Given the description of an element on the screen output the (x, y) to click on. 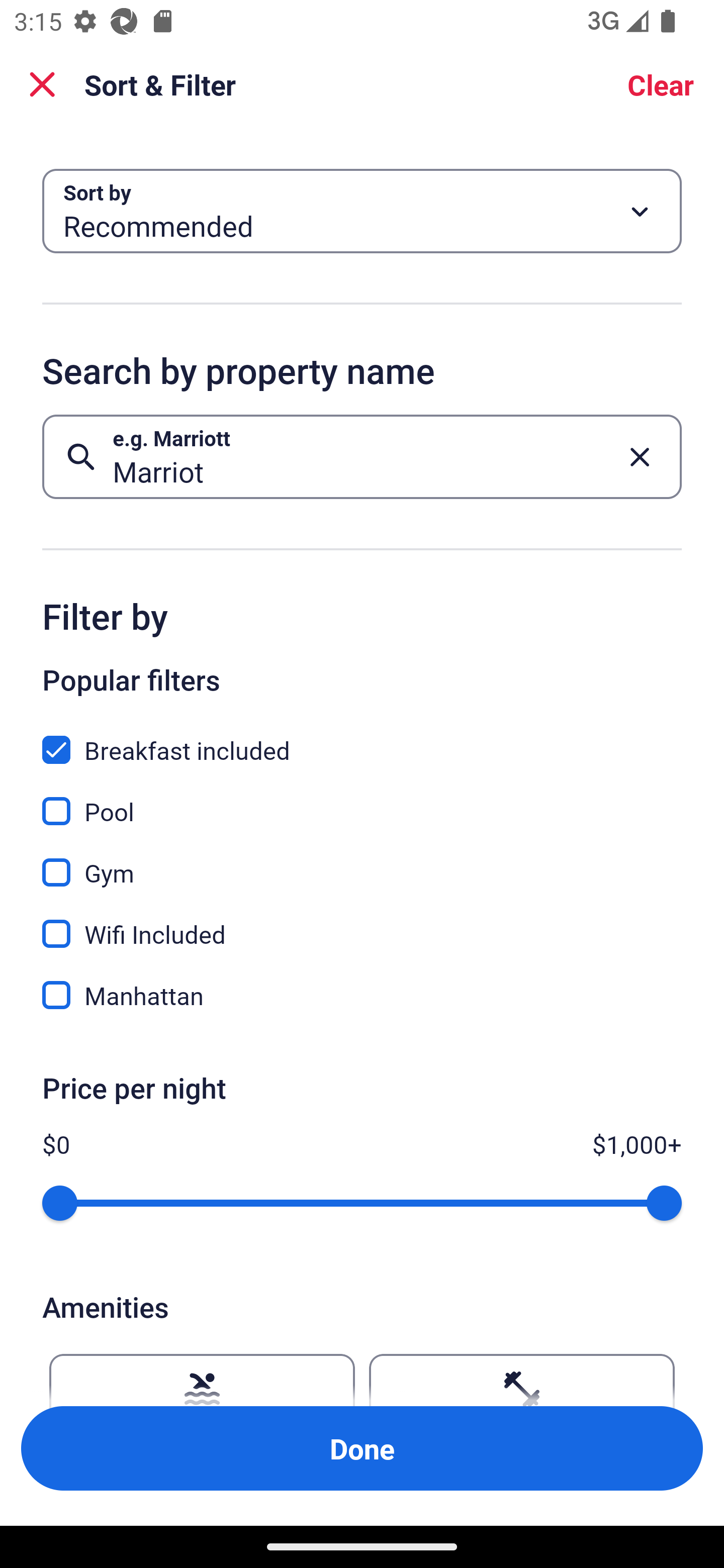
Close Sort and Filter (42, 84)
Clear (660, 84)
Sort by Button Recommended (361, 211)
e.g. Marriott Button Marriot (361, 455)
Breakfast included, Breakfast included (361, 738)
Pool, Pool (361, 800)
Gym, Gym (361, 861)
Wifi Included, Wifi Included (361, 922)
Manhattan, Manhattan (361, 995)
Apply and close Sort and Filter Done (361, 1448)
